Given the description of an element on the screen output the (x, y) to click on. 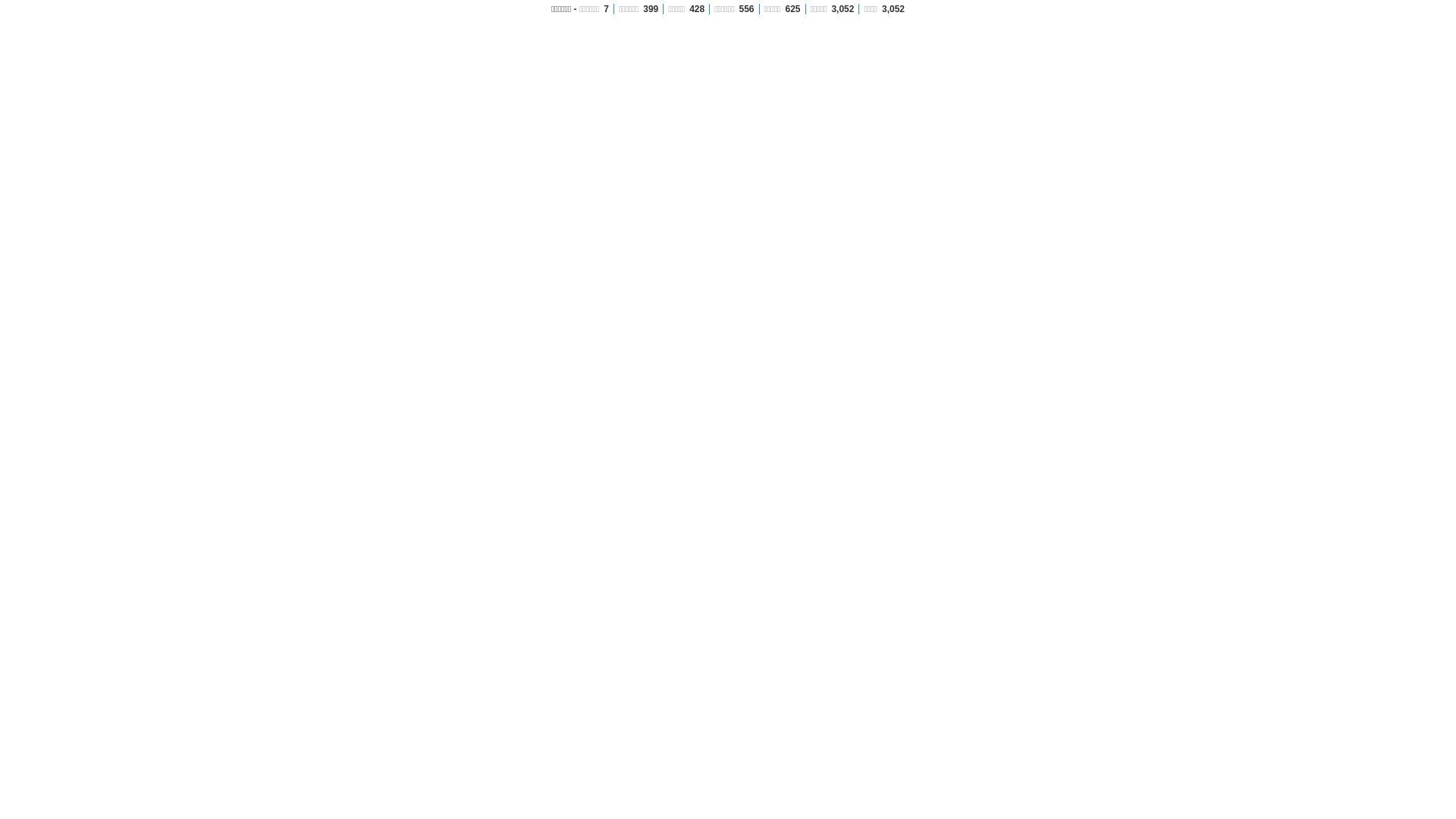
0 Element type: text (874, 589)
0 Element type: text (581, 495)
0 Element type: text (727, 495)
0 Element type: text (727, 448)
0 Element type: text (727, 589)
0 Element type: text (727, 542)
0 Element type: text (874, 448)
0 Element type: text (581, 542)
0 Element type: text (874, 495)
0 Element type: text (874, 542)
0 Element type: text (581, 589)
0 Element type: text (581, 448)
